Given the description of an element on the screen output the (x, y) to click on. 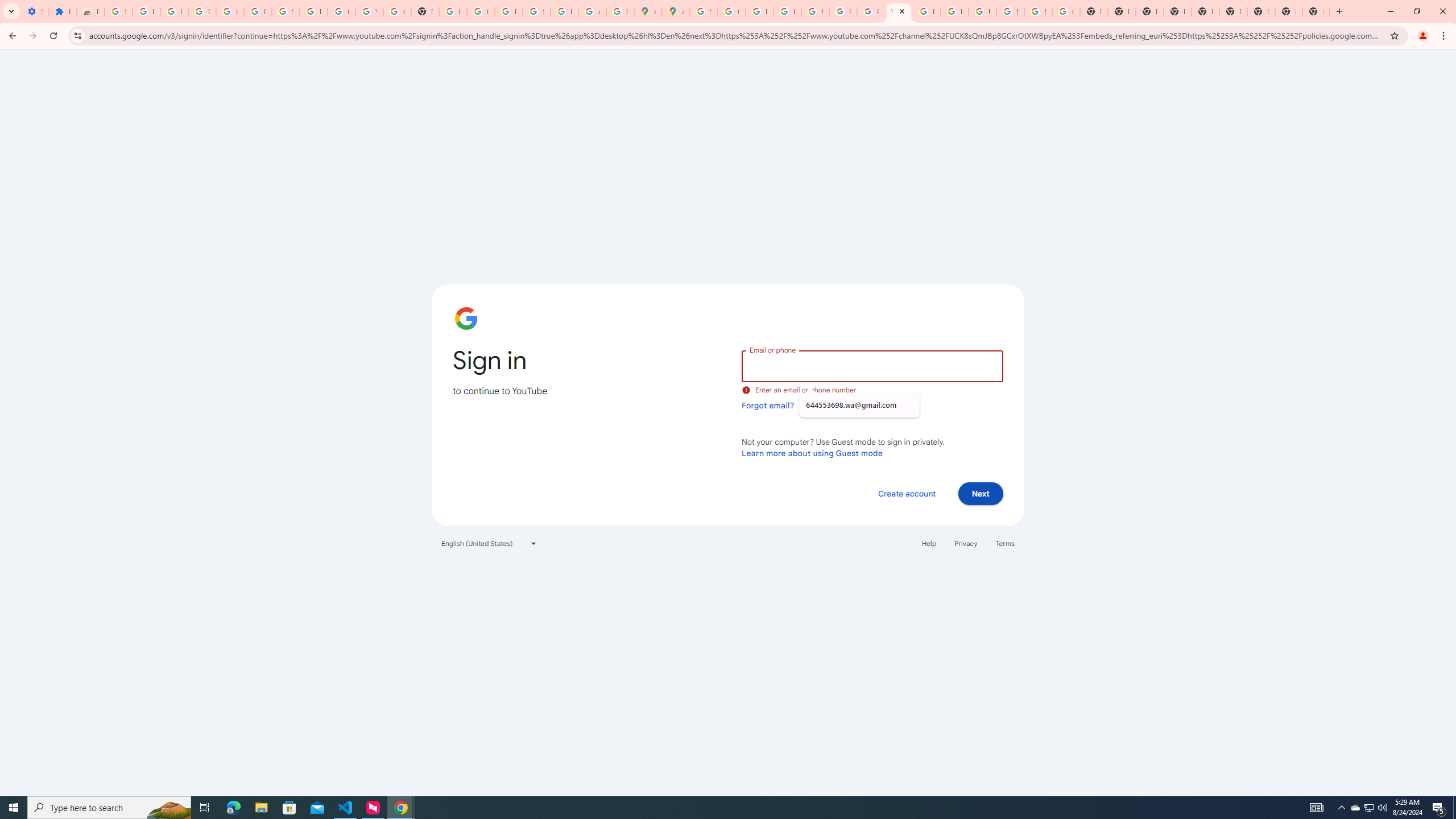
Safety in Our Products - Google Safety Center (620, 11)
Sign in - Google Accounts (285, 11)
Learn how to find your photos - Google Photos Help (229, 11)
